Given the description of an element on the screen output the (x, y) to click on. 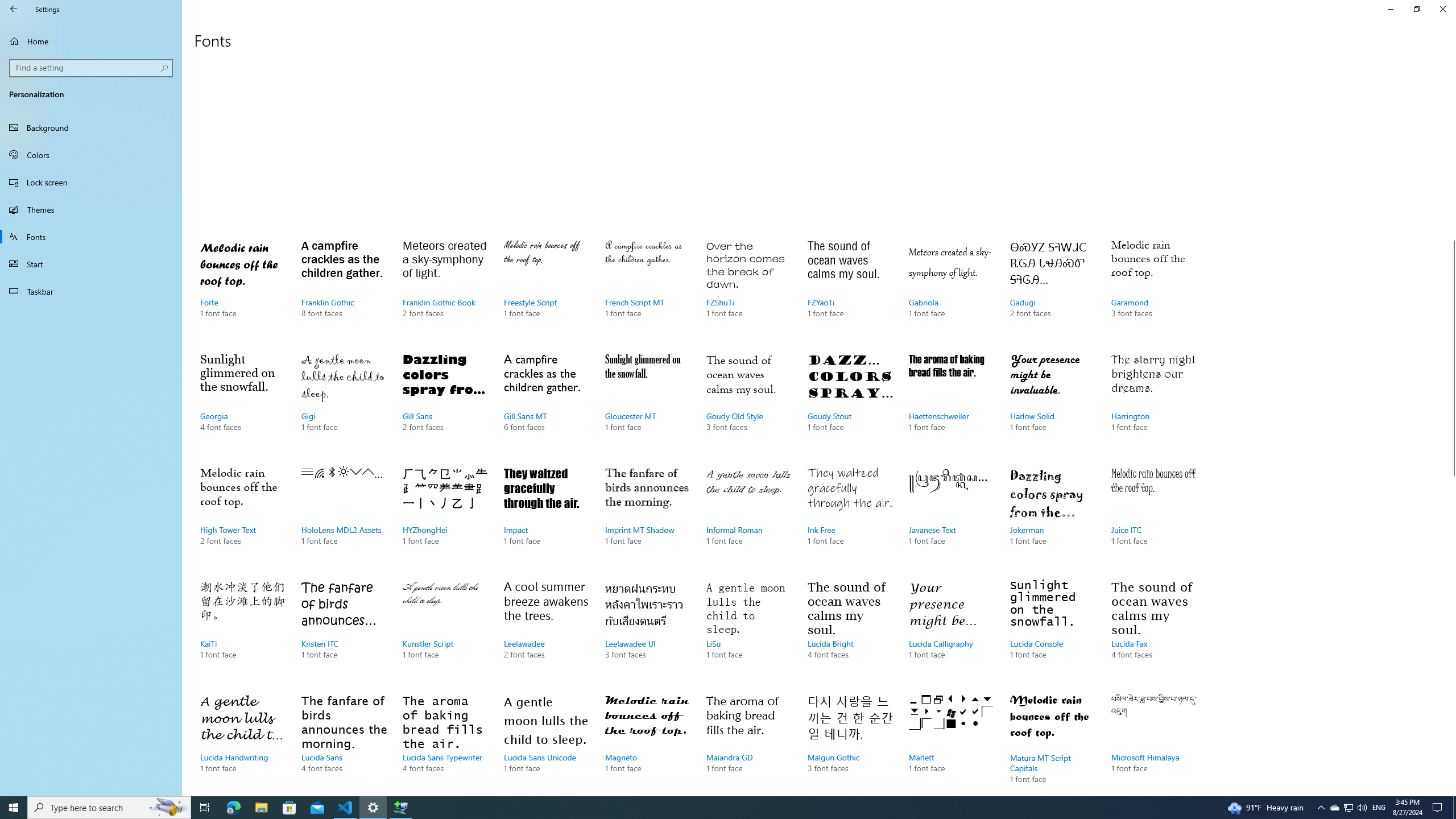
Kunstler Script, 1 font face (445, 630)
Tray Input Indicator - English (United States) (1378, 807)
Forte, 1 font face (243, 290)
Microsoft Himalaya, 1 font face (1153, 741)
Vertical Small Decrease (1451, 58)
Informal Roman, 1 font face (748, 517)
Lucida Sans Unicode, 1 font face (545, 741)
Start (91, 263)
Georgia, 4 font faces (243, 403)
Microsoft Edge (233, 807)
Fonts (91, 236)
Taskbar (91, 290)
Start (13, 807)
Vertical Small Increase (1451, 791)
Impact, 1 font face (545, 517)
